Given the description of an element on the screen output the (x, y) to click on. 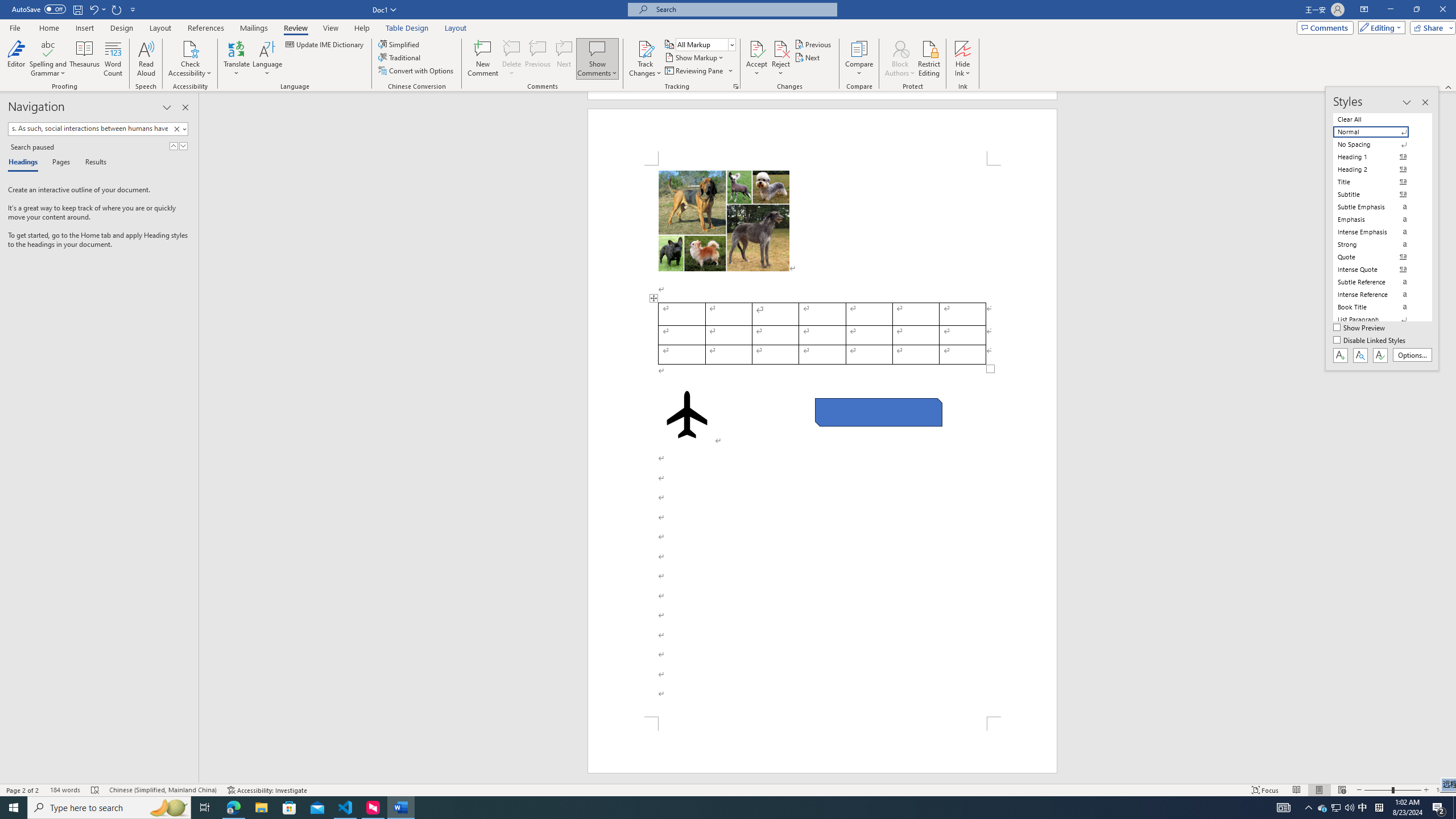
Table Design (407, 28)
Spelling and Grammar Check Errors (94, 790)
Accept (756, 58)
Quick Access Toolbar (74, 9)
Disable Linked Styles (1370, 340)
Collapse the Ribbon (1448, 86)
Show Comments (597, 58)
Next (808, 56)
Airplane with solid fill (686, 414)
Check Accessibility (189, 58)
